Given the description of an element on the screen output the (x, y) to click on. 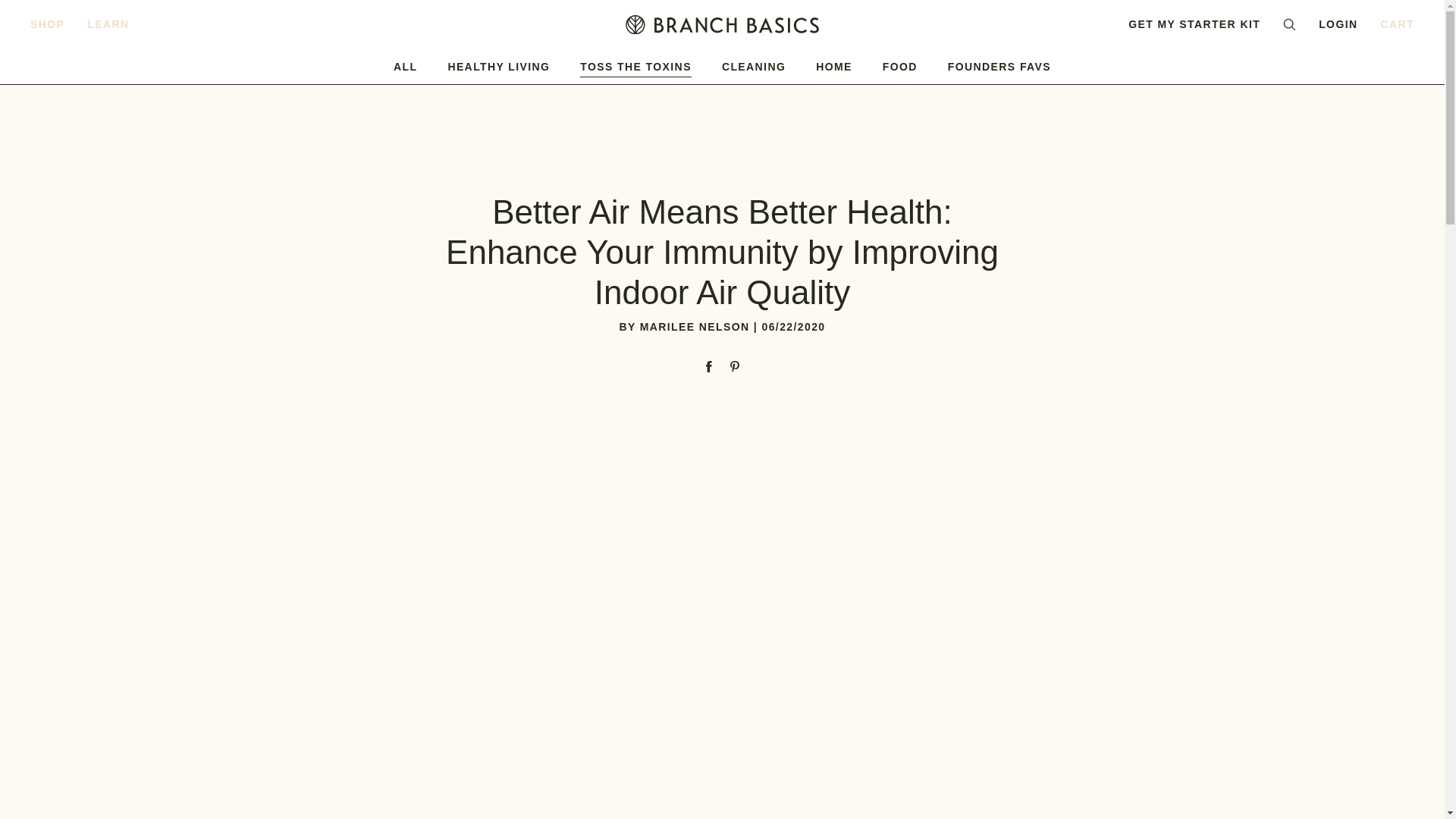
GET MY STARTER KIT (1194, 24)
LOGIN (1337, 24)
LEARN (108, 24)
CART (1396, 24)
SHOP (47, 24)
